Given the description of an element on the screen output the (x, y) to click on. 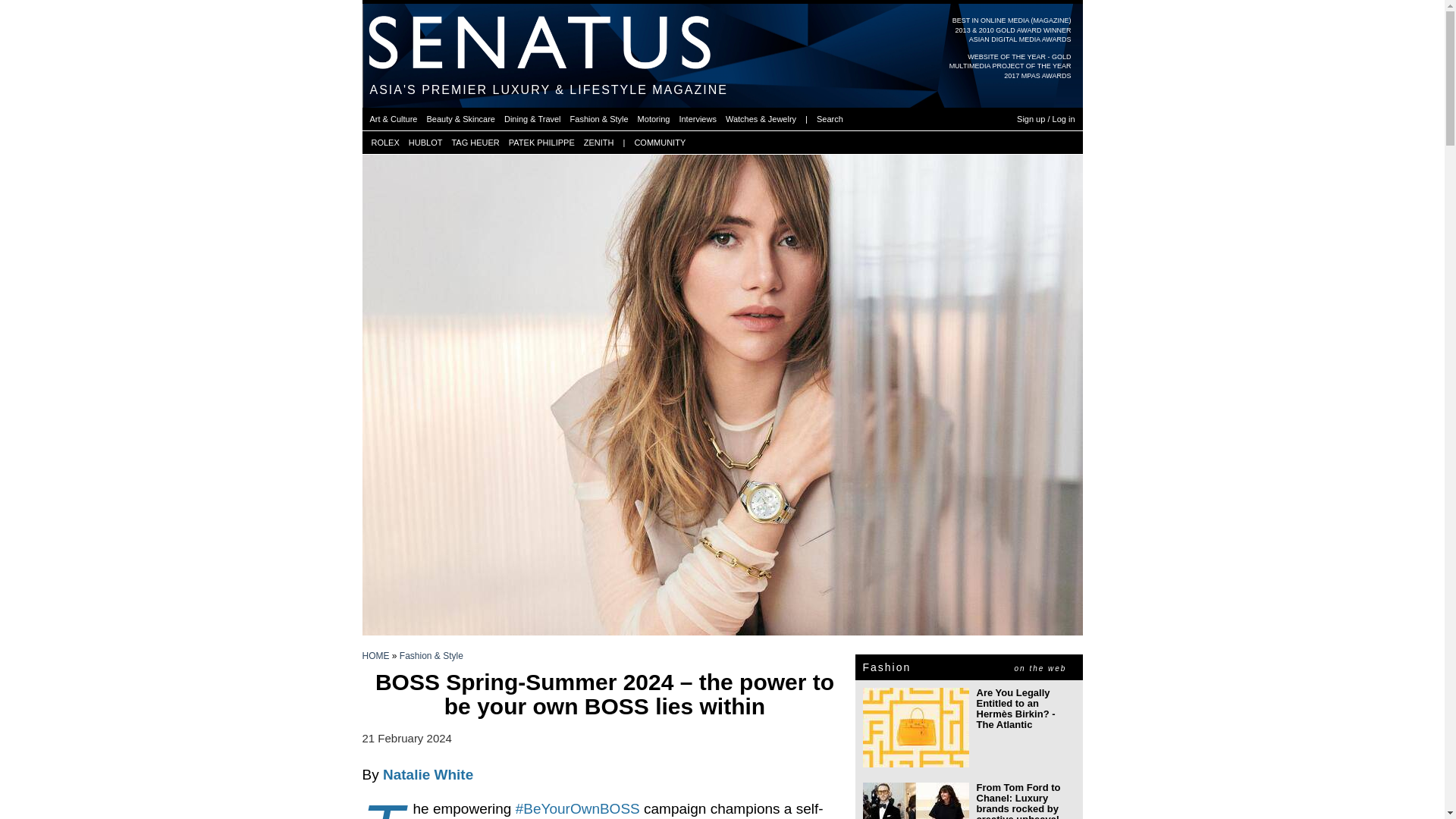
ZENITH (598, 142)
Search (829, 118)
ROLEX (385, 142)
TAG HEUER (475, 142)
PATEK PHILIPPE (541, 142)
Natalie White (427, 774)
HUBLOT (425, 142)
COMMUNITY (659, 142)
